Given the description of an element on the screen output the (x, y) to click on. 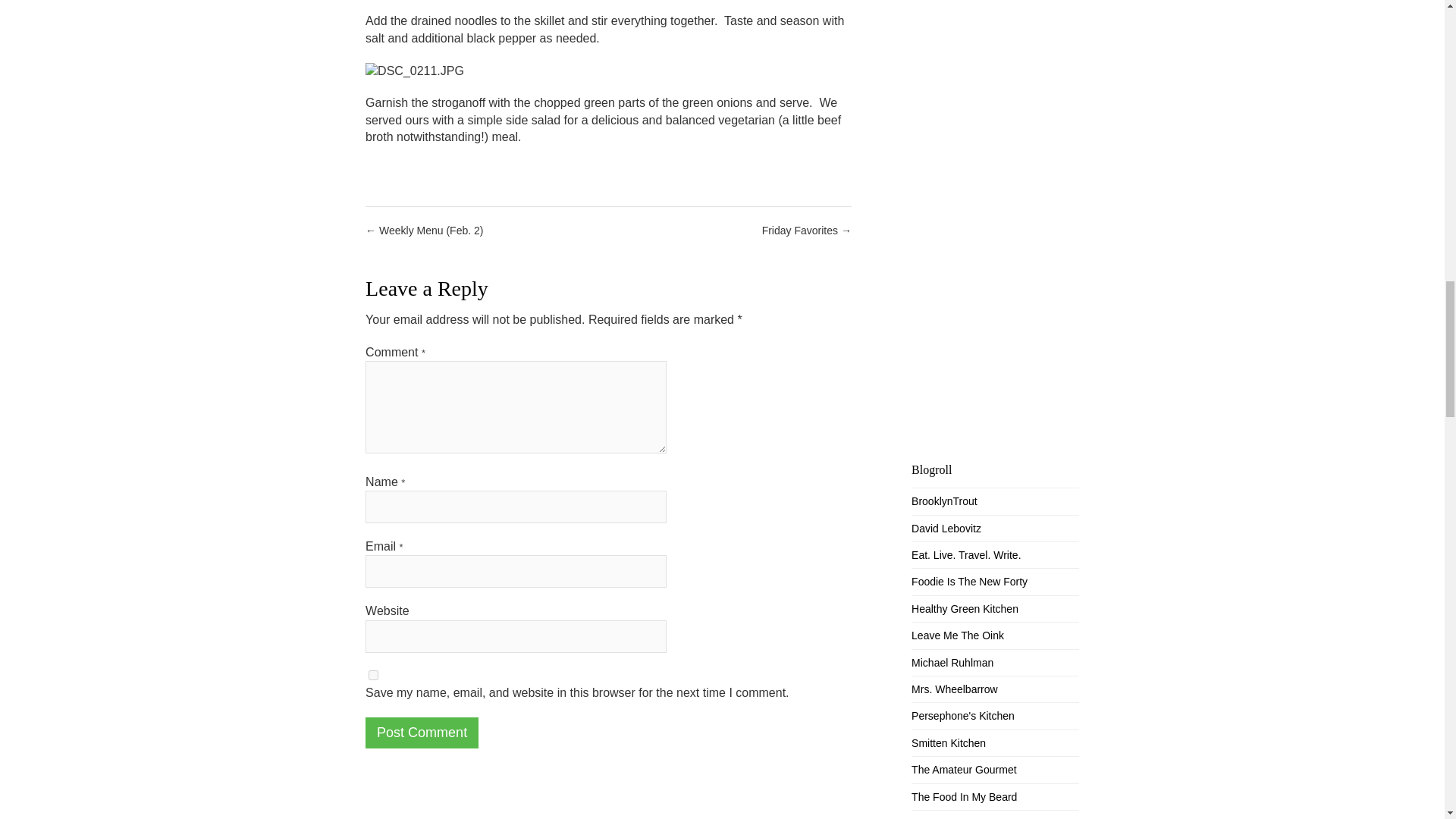
Our web designer (943, 500)
yes (373, 675)
Post Comment (422, 732)
Post Comment (422, 732)
